Given the description of an element on the screen output the (x, y) to click on. 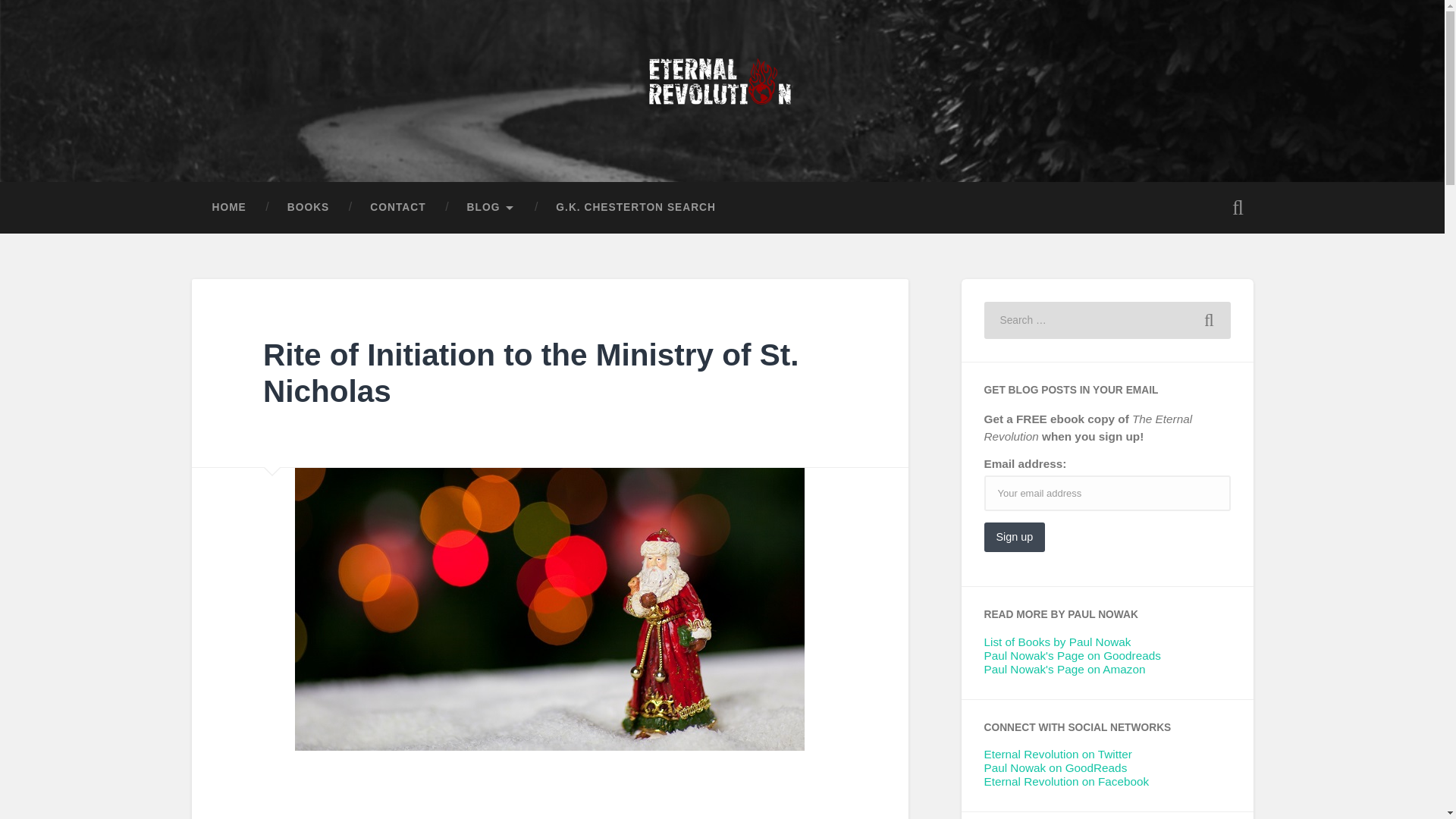
Eternal Revolution (316, 143)
G.K. CHESTERTON SEARCH (635, 207)
BOOKS (307, 207)
Search (1209, 319)
CONTACT (397, 207)
Sign up (1014, 536)
Search (1209, 319)
Rite of Initiation to the Ministry of St. Nicholas (530, 373)
Search (1209, 319)
BLOG (490, 207)
